Given the description of an element on the screen output the (x, y) to click on. 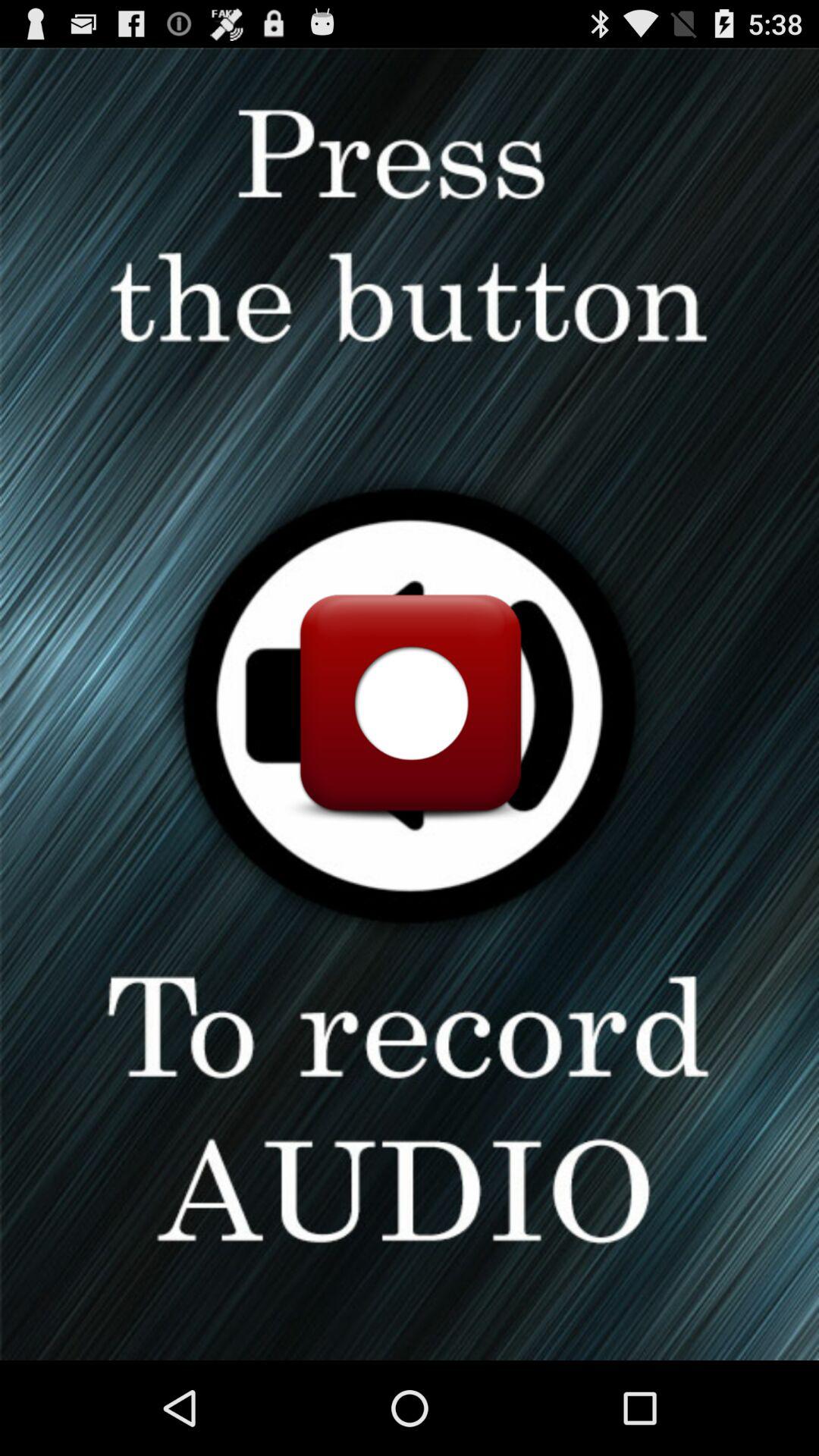
press button to record audio (409, 703)
